Given the description of an element on the screen output the (x, y) to click on. 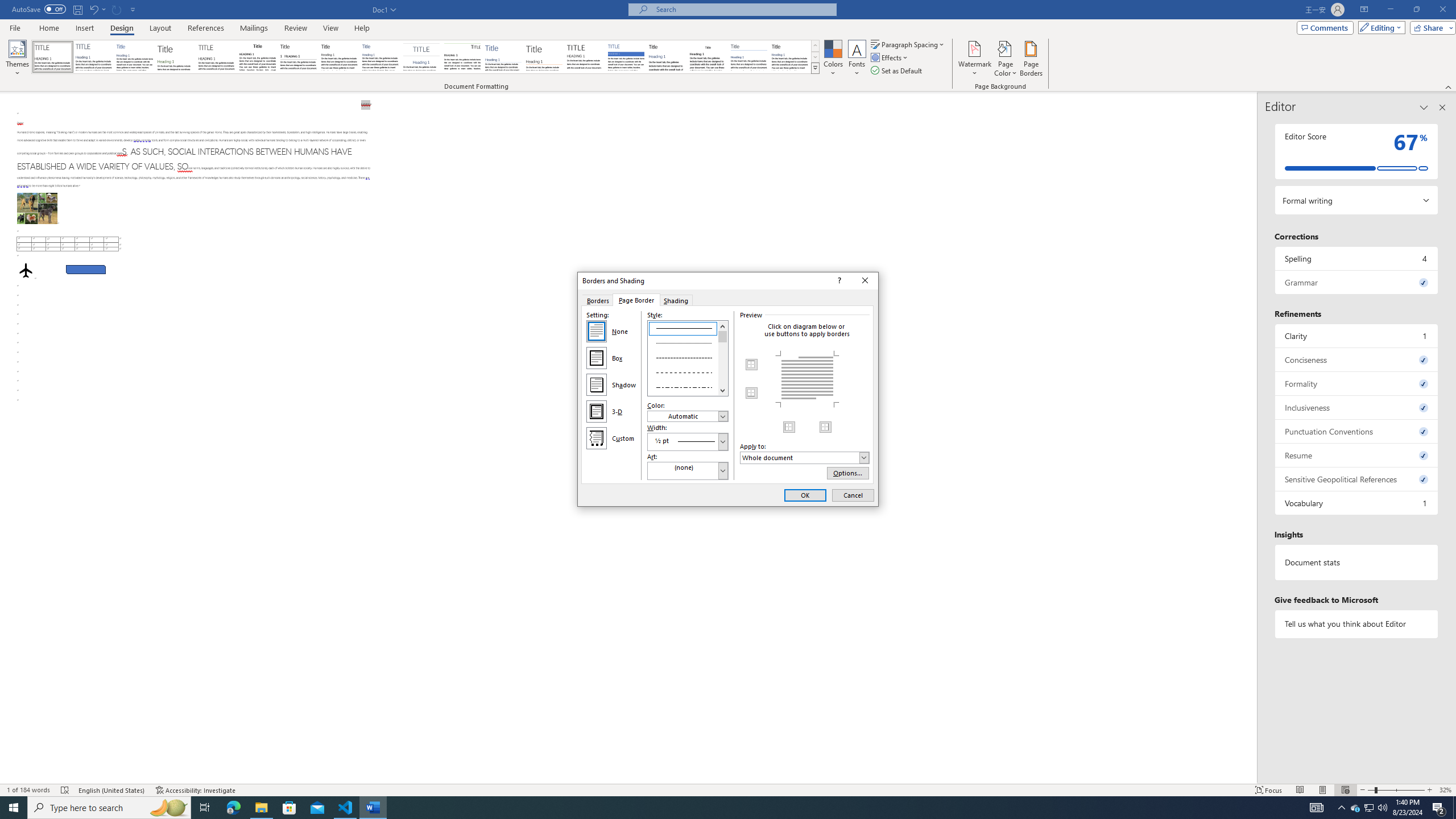
Top Border (751, 364)
Shading (676, 299)
Watermark (974, 58)
Right Border (824, 426)
Search highlights icon opens search home window (167, 807)
Zoom 32% (1445, 790)
Start (13, 807)
3-D (596, 411)
Black & White (Numbered) (298, 56)
